Given the description of an element on the screen output the (x, y) to click on. 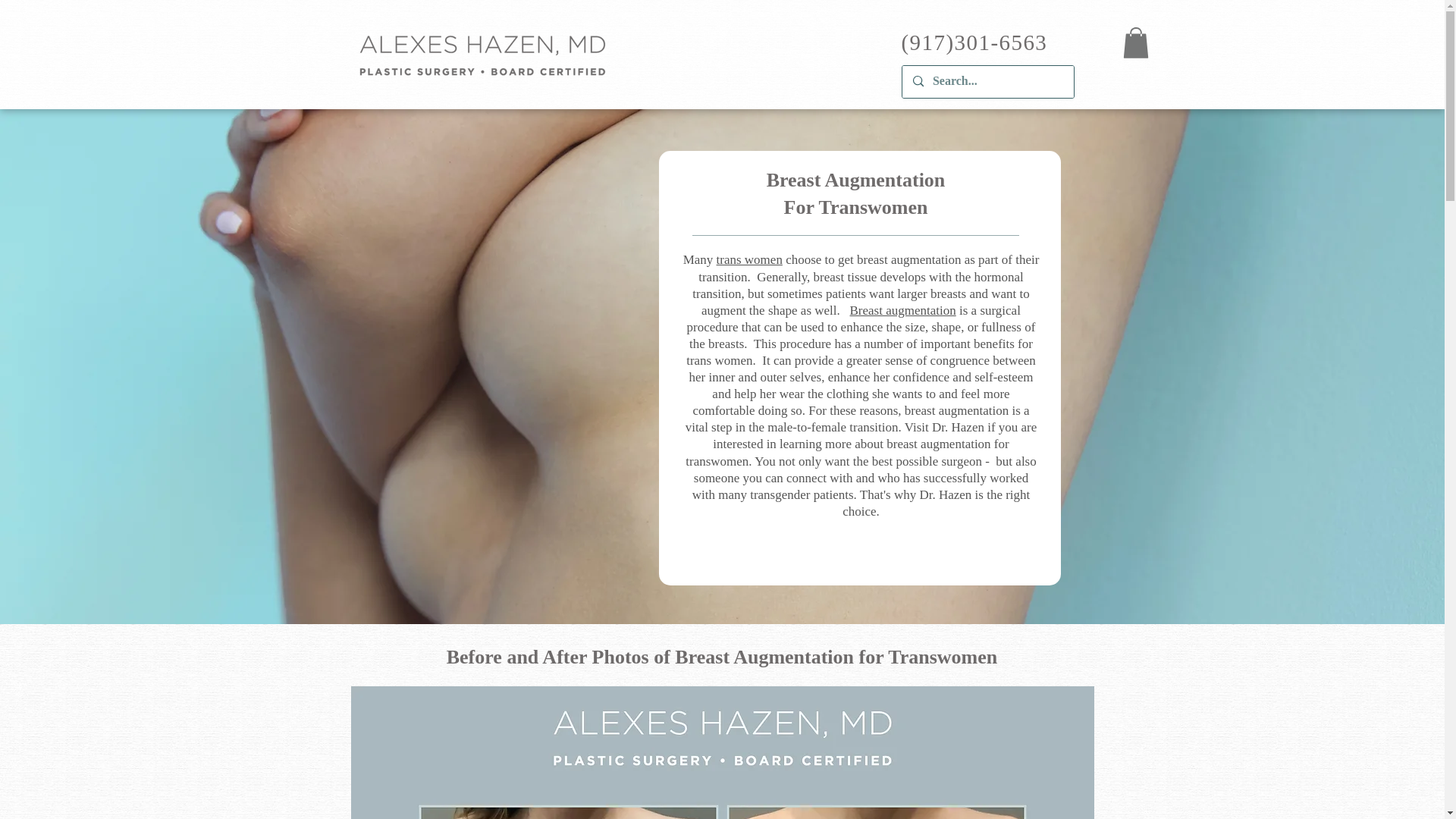
Breast augmentation (903, 310)
trans women (749, 259)
